Given the description of an element on the screen output the (x, y) to click on. 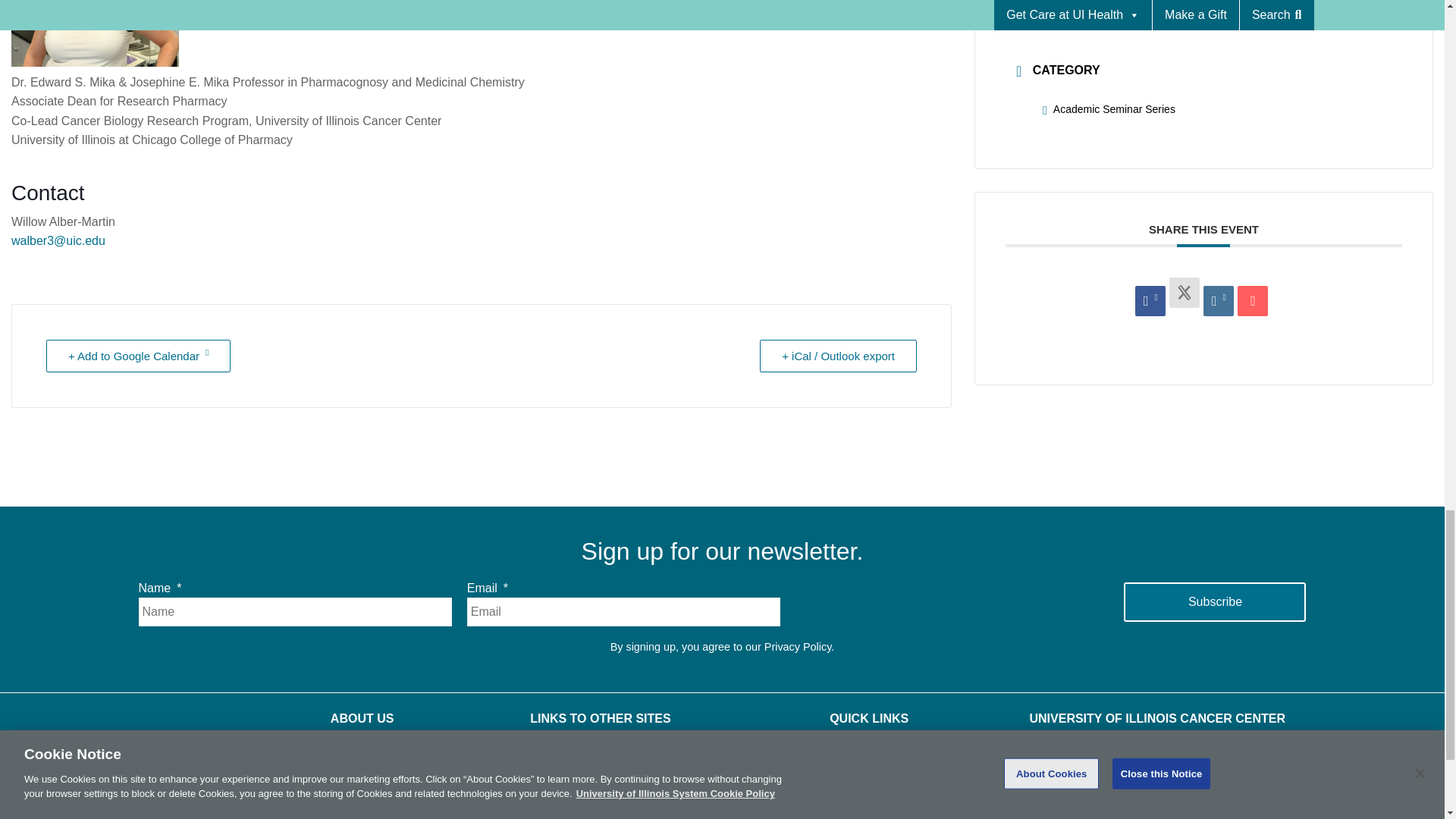
Subscribe (1215, 601)
